Given the description of an element on the screen output the (x, y) to click on. 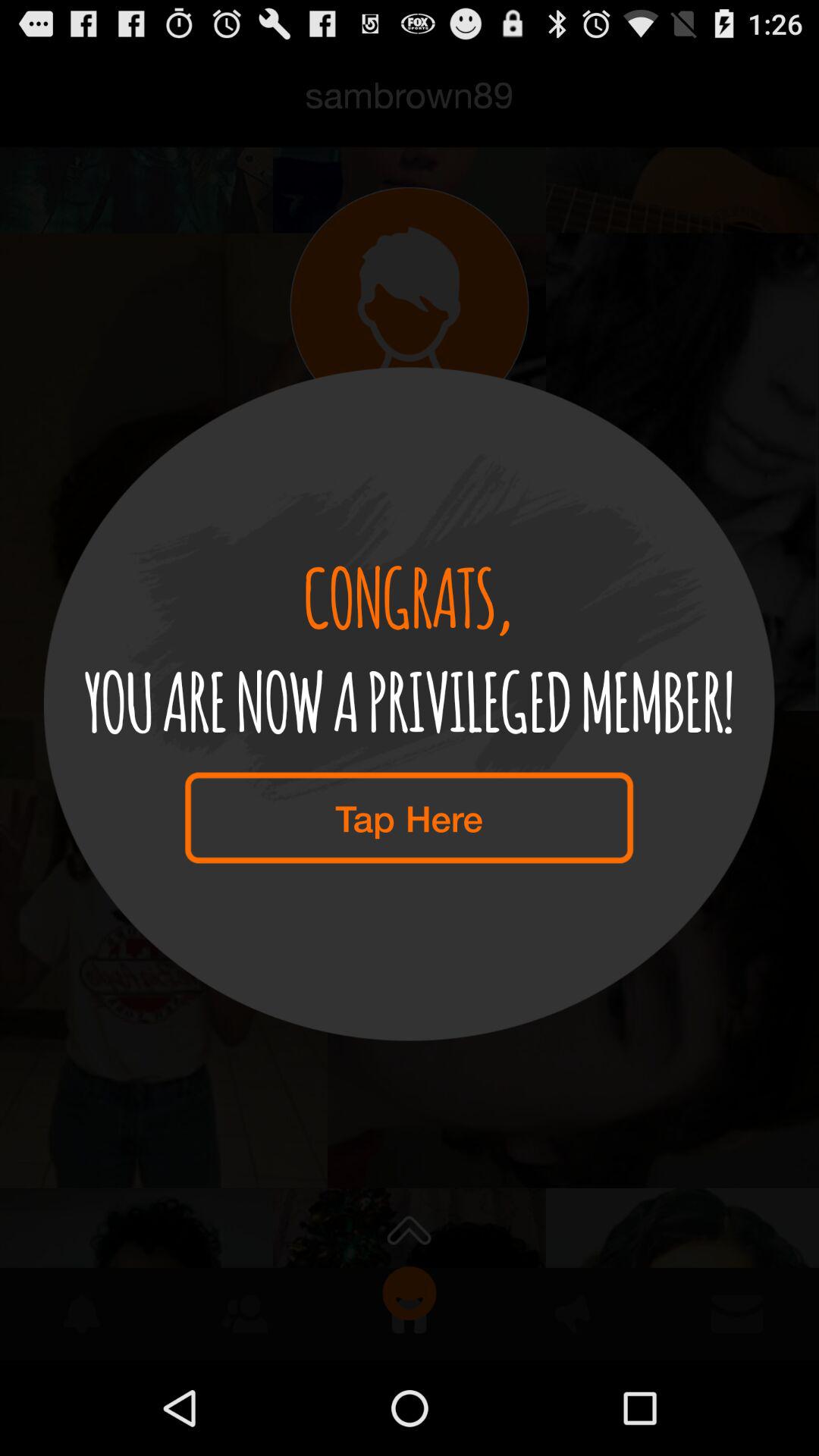
turn on the tap here item (408, 817)
